Given the description of an element on the screen output the (x, y) to click on. 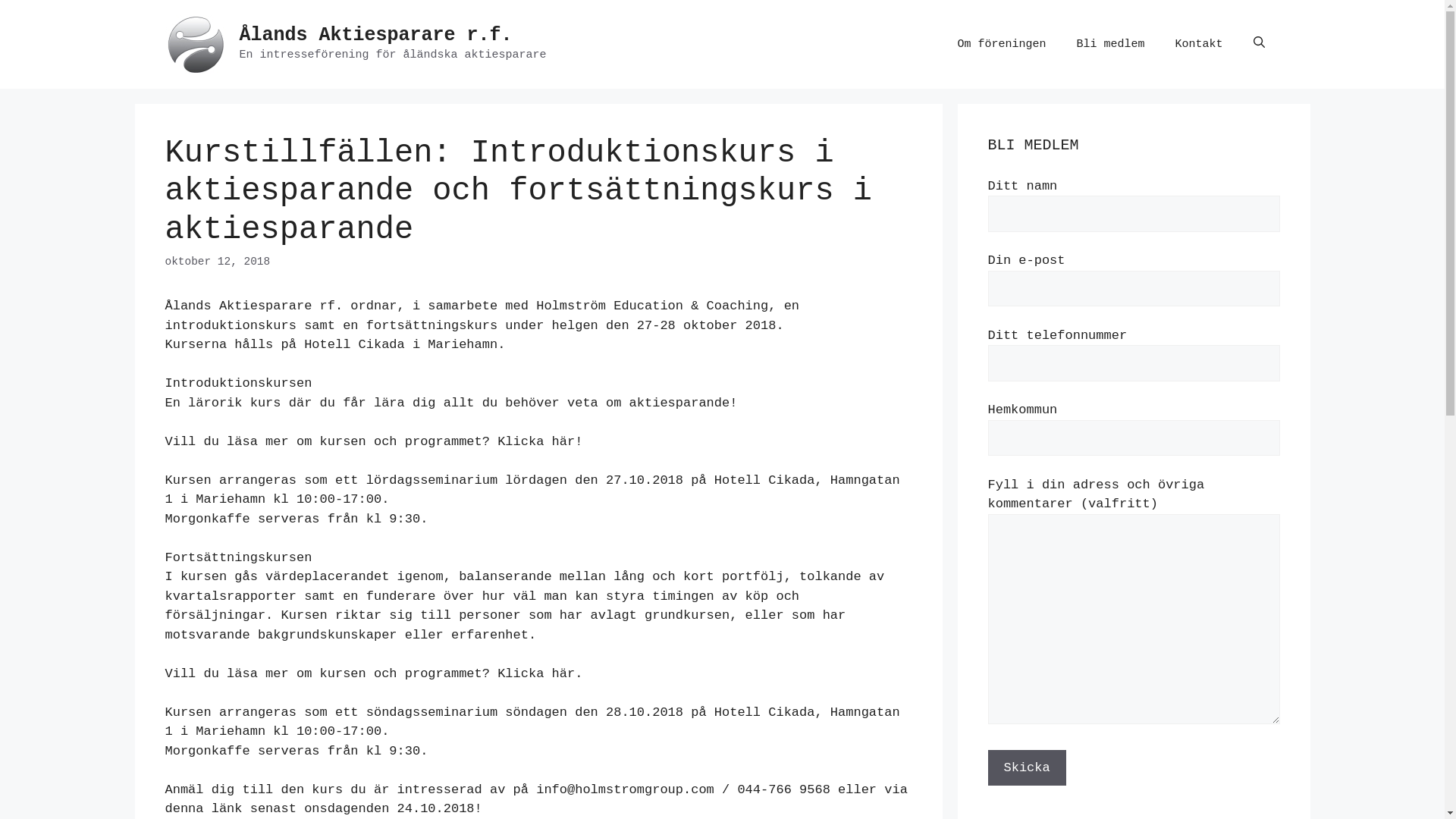
Skicka Element type: text (1026, 767)
Bli medlem Element type: text (1109, 43)
Kontakt Element type: text (1198, 43)
